Given the description of an element on the screen output the (x, y) to click on. 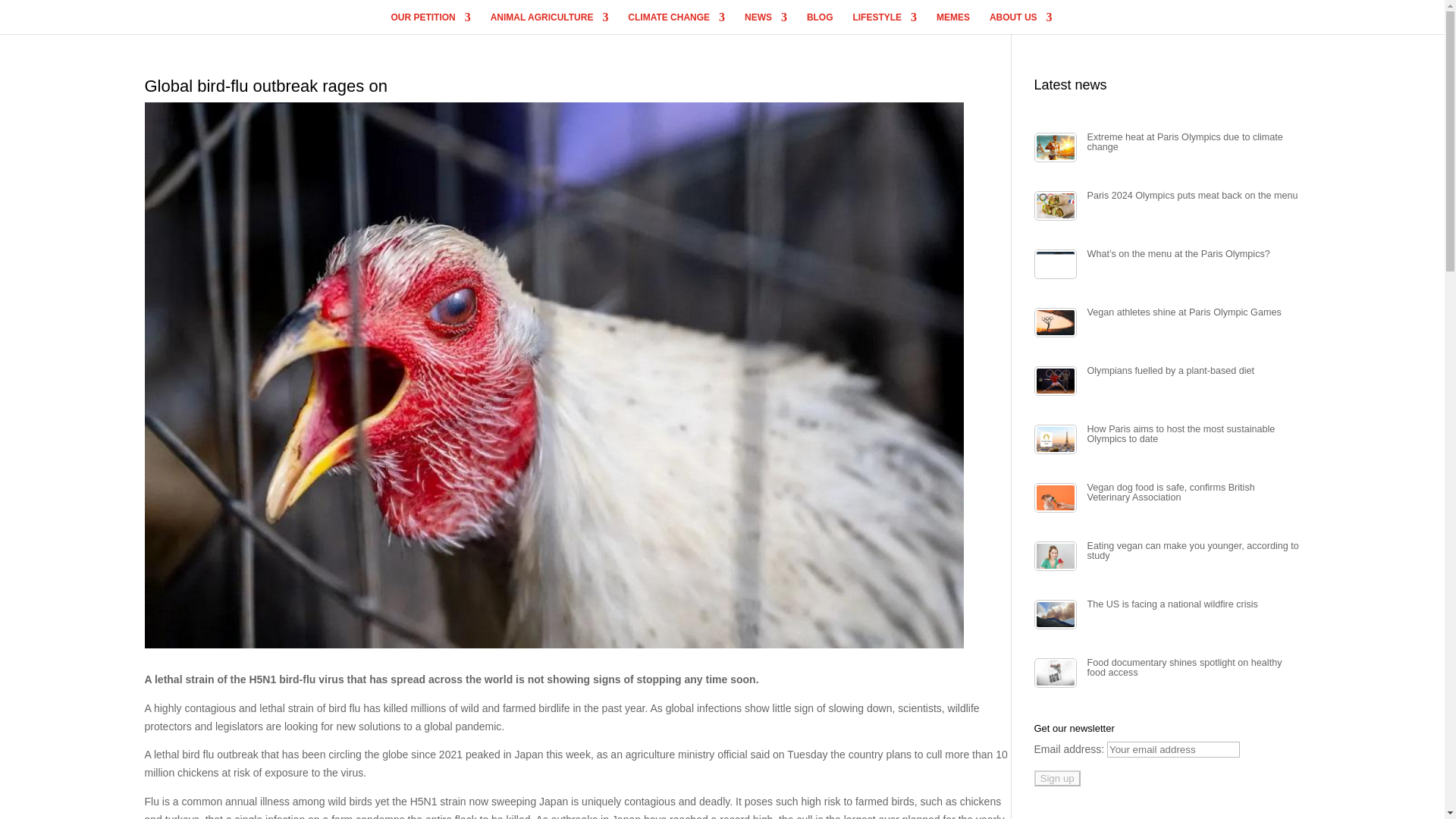
OUR PETITION (430, 23)
MEMES (952, 23)
ABOUT US (1021, 23)
BLOG (819, 23)
LIFESTYLE (884, 23)
Sign up (1056, 778)
NEWS (765, 23)
ANIMAL AGRICULTURE (549, 23)
CLIMATE CHANGE (676, 23)
